Given the description of an element on the screen output the (x, y) to click on. 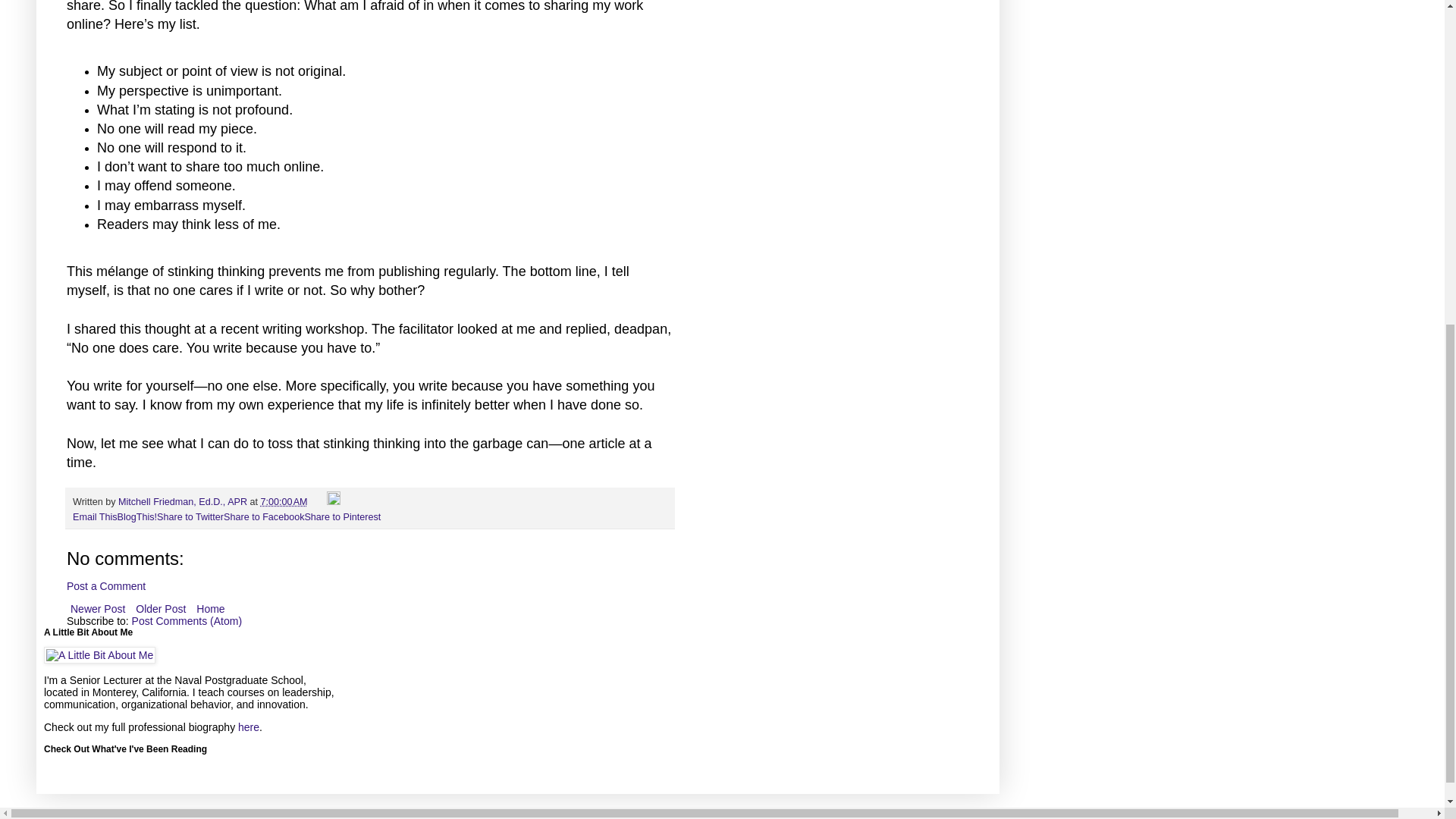
Edit Post (333, 501)
BlogThis! (137, 516)
Home (210, 608)
Post a Comment (105, 585)
author profile (183, 501)
permanent link (283, 501)
BlogThis! (137, 516)
Share to Facebook (264, 516)
Older Post (160, 608)
Mitchell Friedman, Ed.D., APR (183, 501)
Newer Post (97, 608)
Newer Post (97, 608)
Share to Twitter (190, 516)
here (248, 727)
Share to Pinterest (342, 516)
